Given the description of an element on the screen output the (x, y) to click on. 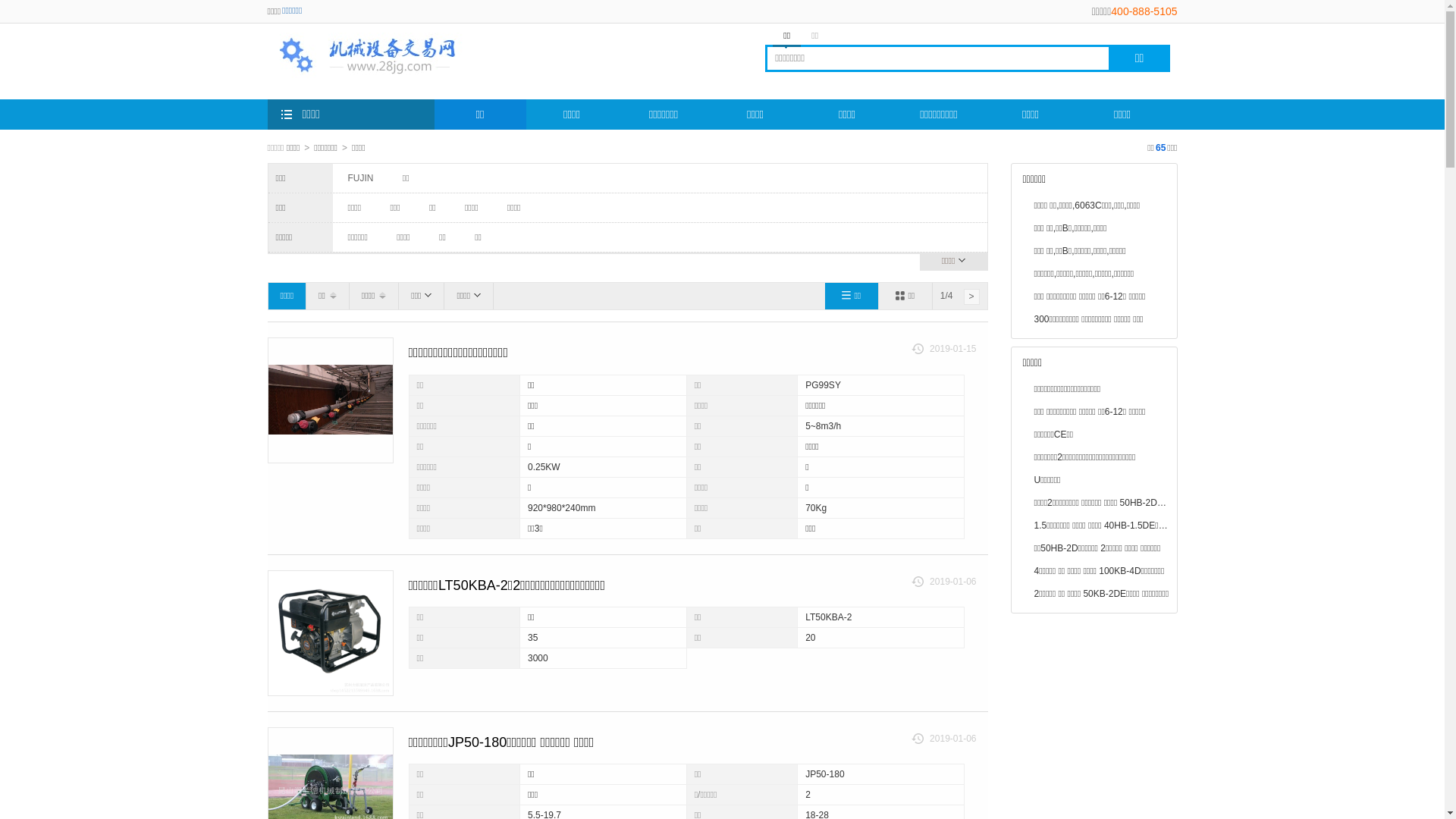
FUJIN Element type: text (359, 177)
> Element type: text (971, 296)
